Given the description of an element on the screen output the (x, y) to click on. 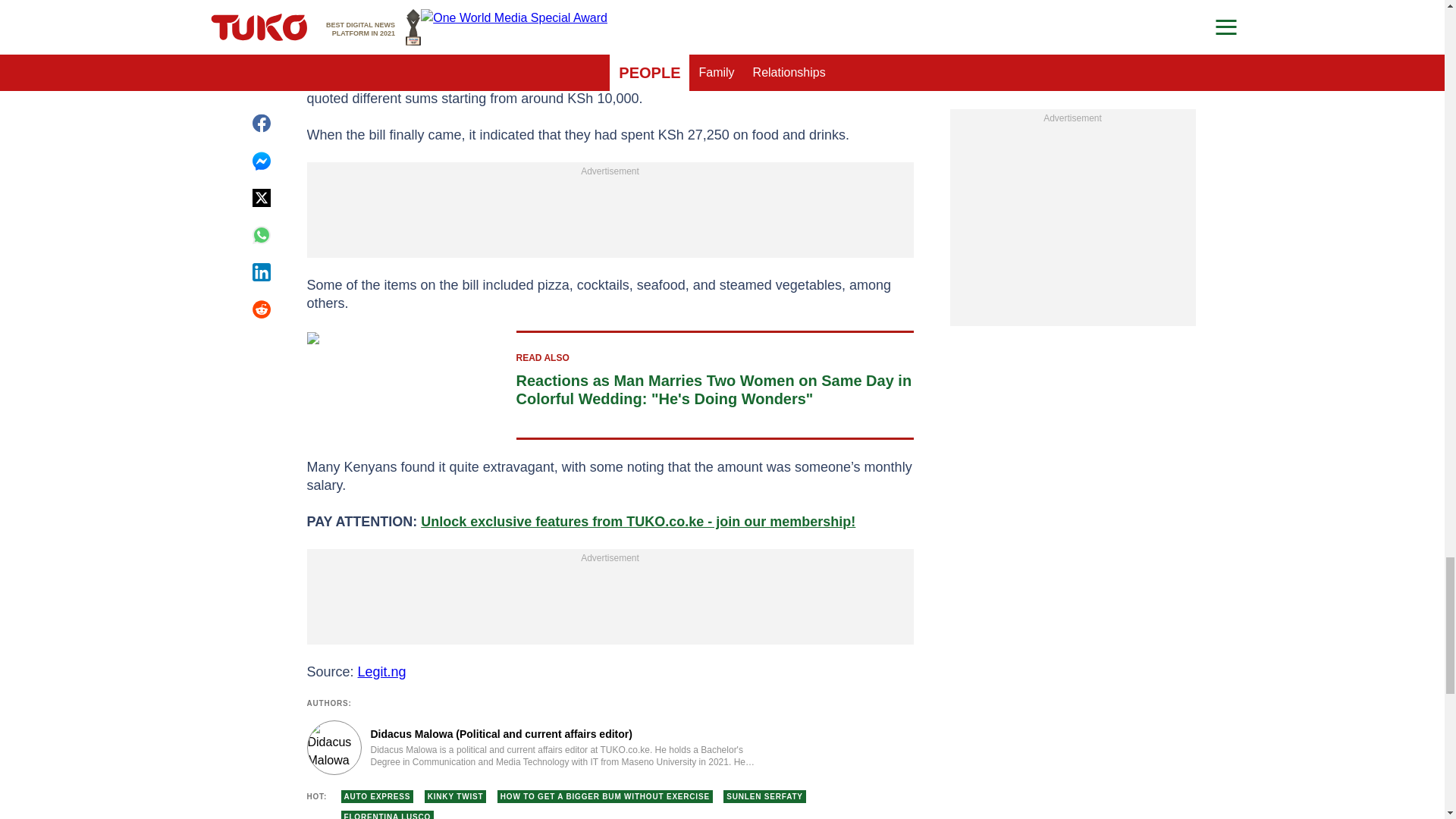
Author page (533, 747)
